Given the description of an element on the screen output the (x, y) to click on. 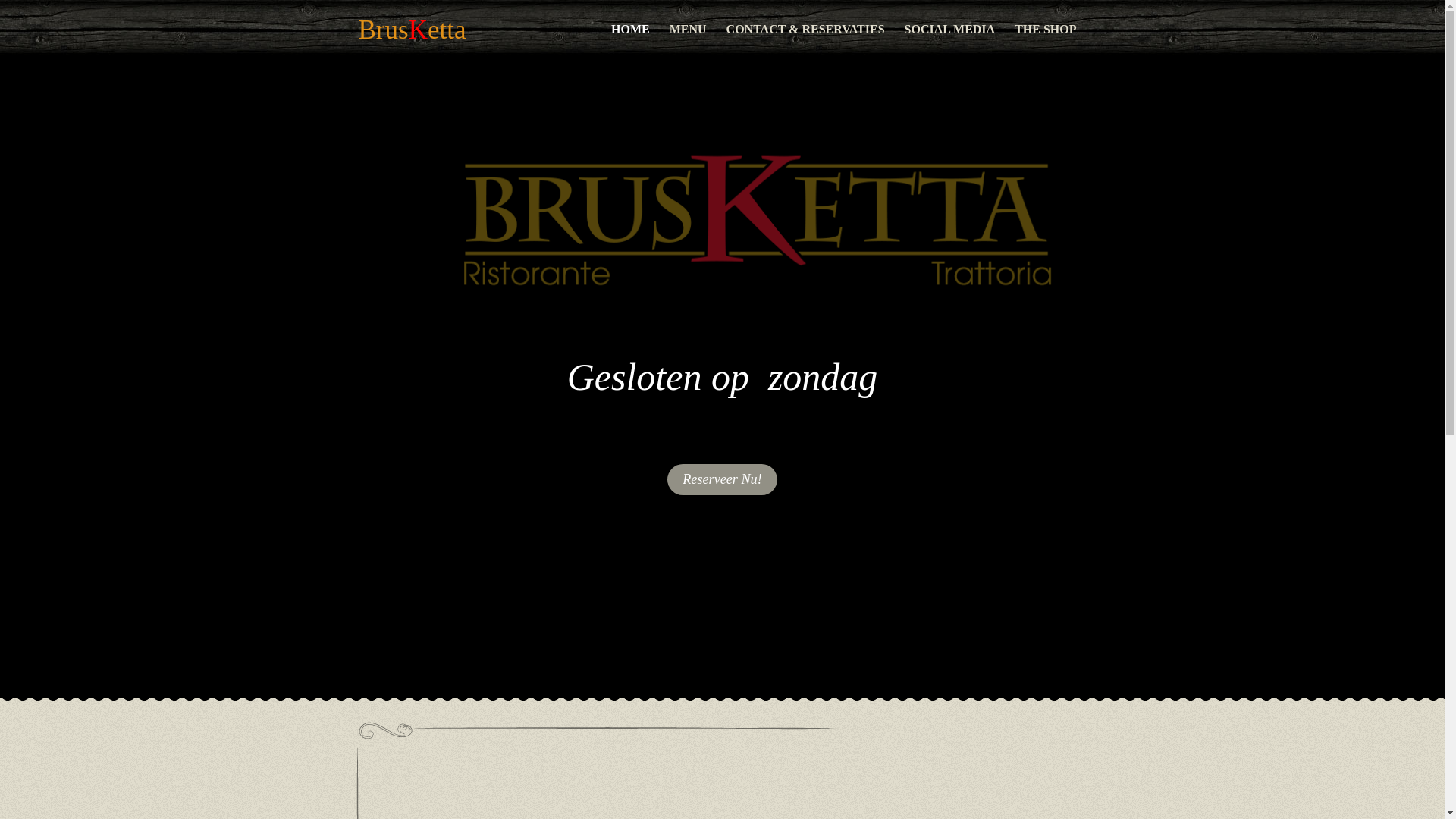
HOME Element type: text (630, 29)
MENU Element type: text (687, 29)
SOCIAL MEDIA Element type: text (949, 29)
CONTACT & RESERVATIES Element type: text (805, 29)
Reserveer Nu! Element type: text (722, 479)
THE SHOP Element type: text (1044, 29)
